Given the description of an element on the screen output the (x, y) to click on. 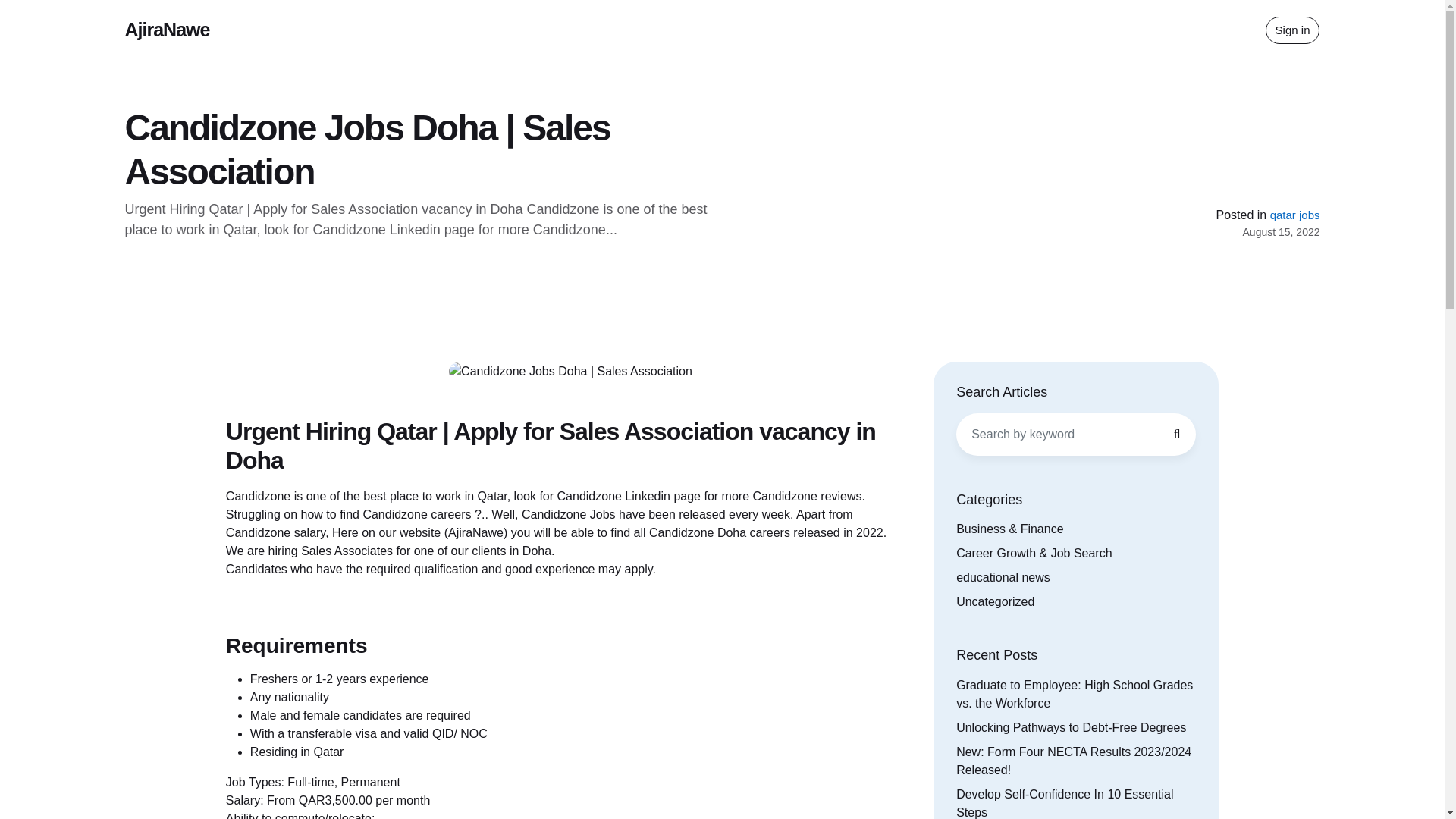
Sign in (1292, 30)
AjiraNawe (166, 29)
View all posts in qatar jobs (1294, 214)
qatar jobs (1294, 214)
